Given the description of an element on the screen output the (x, y) to click on. 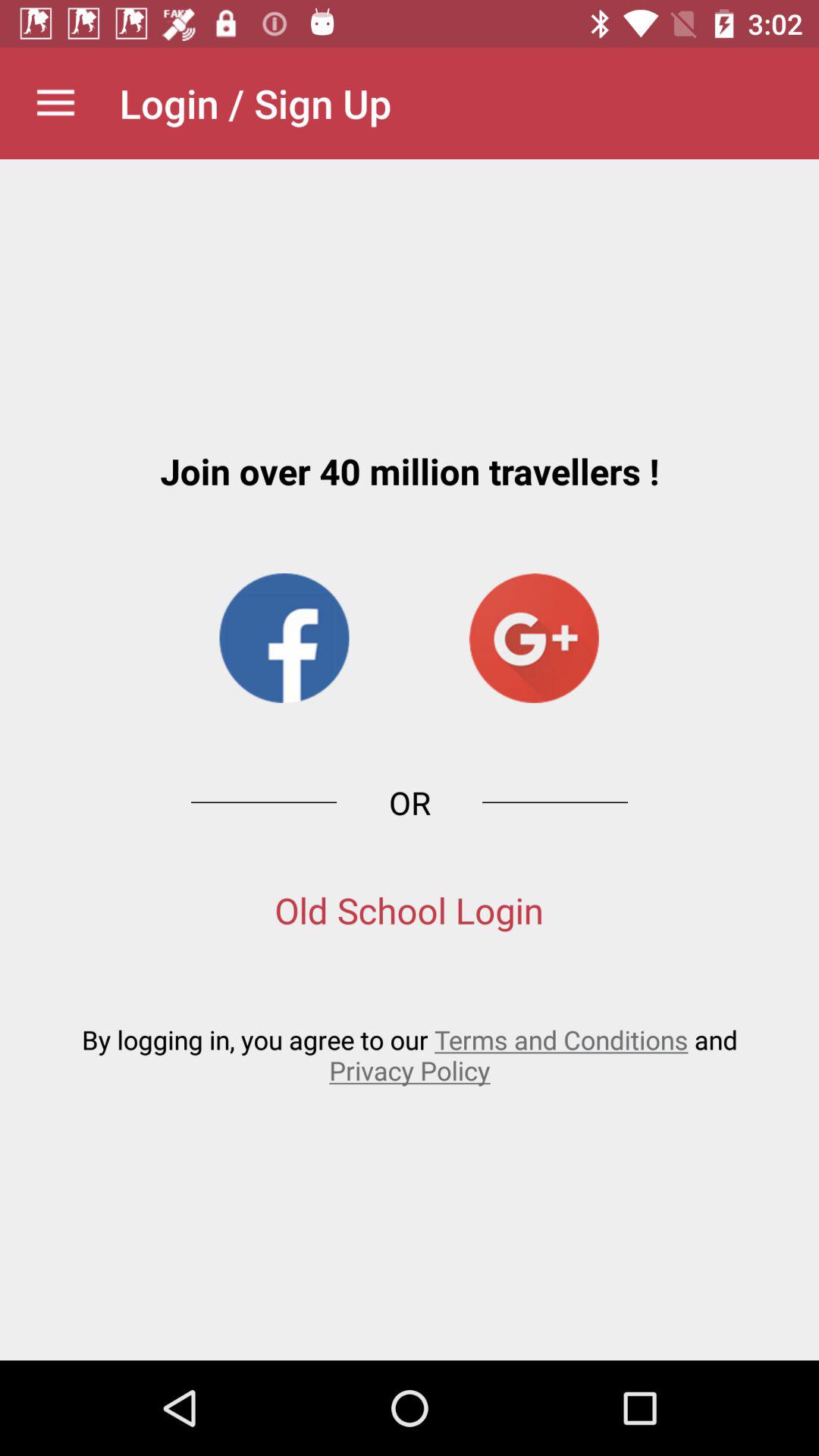
turn on item next to the login / sign up app (55, 103)
